Given the description of an element on the screen output the (x, y) to click on. 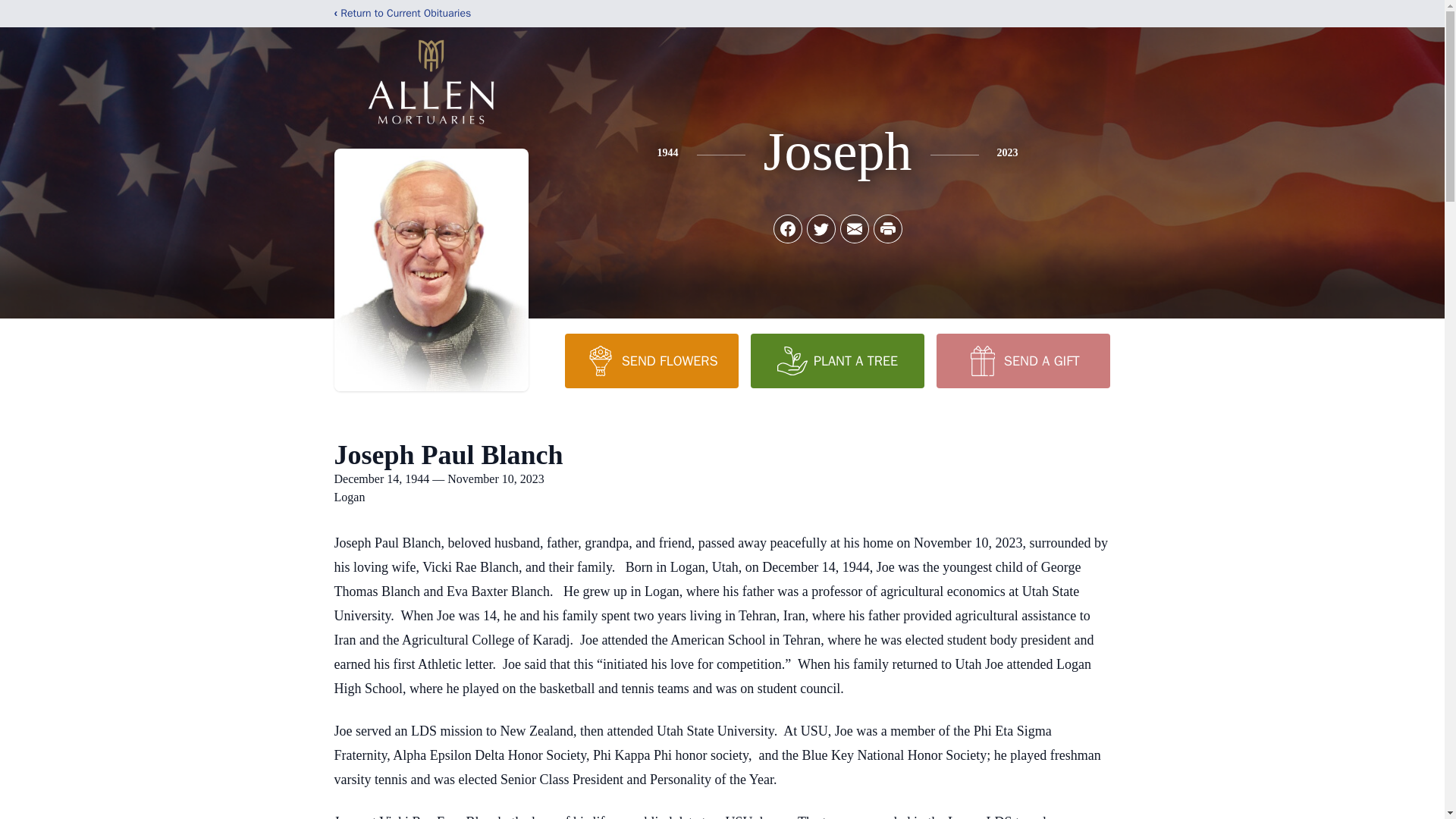
SEND A GIFT (1022, 360)
SEND FLOWERS (651, 360)
PLANT A TREE (837, 360)
